Given the description of an element on the screen output the (x, y) to click on. 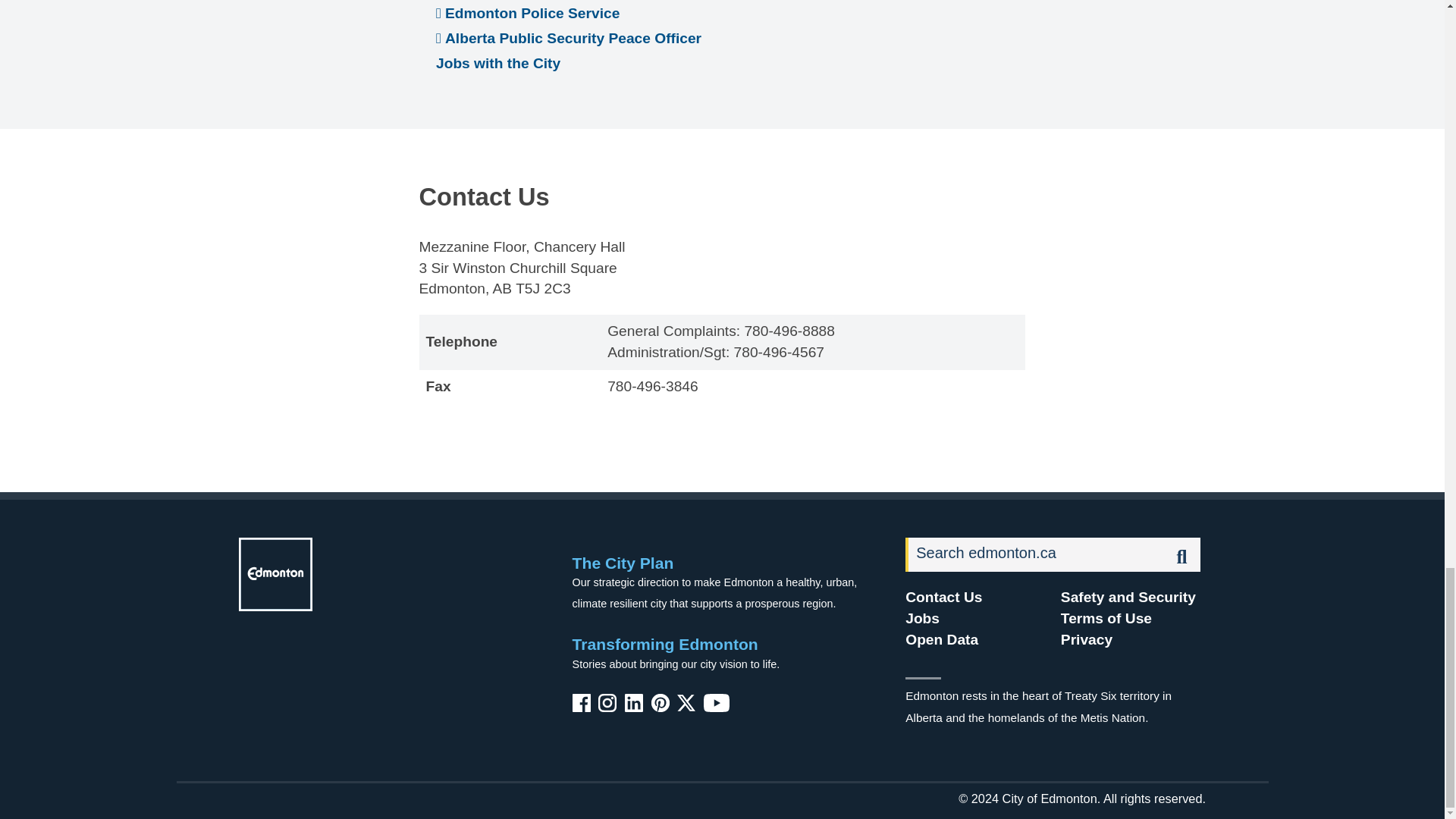
Search (1034, 554)
